Given the description of an element on the screen output the (x, y) to click on. 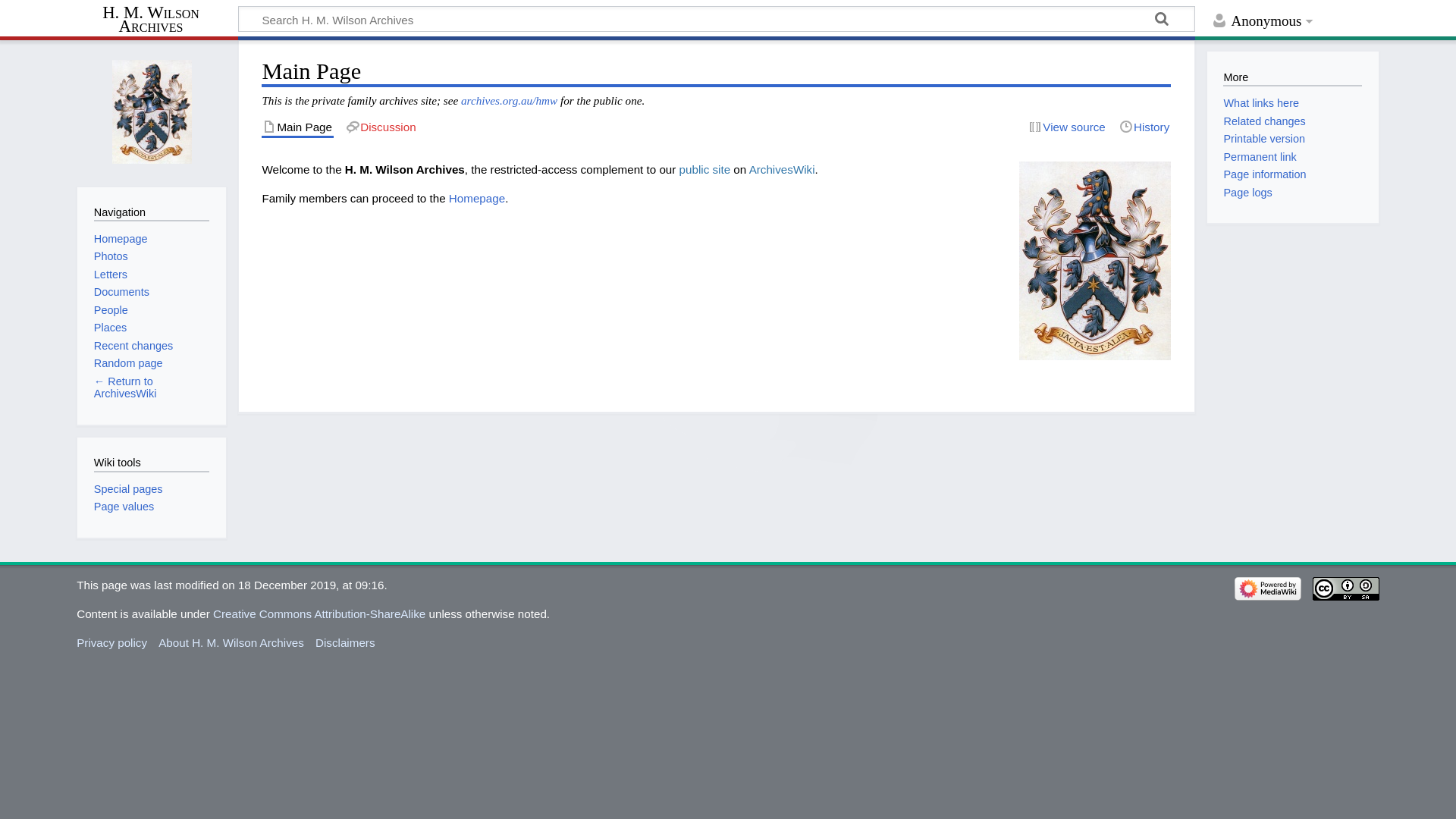
Photos Element type: text (111, 256)
Main Page Element type: text (297, 127)
Permanent link Element type: text (1259, 156)
Recent changes Element type: text (133, 345)
Homepage Element type: text (476, 197)
public site Element type: text (705, 169)
Search Element type: text (1162, 20)
Homepage Element type: text (120, 238)
Search pages for this text Element type: hover (1162, 20)
Search H. M. Wilson Archives [alt-shift-f] Element type: hover (716, 18)
Page logs Element type: text (1247, 192)
Documents Element type: text (121, 291)
People Element type: text (111, 310)
Printable version Element type: text (1264, 138)
Places Element type: text (110, 327)
Visit the main page Element type: hover (150, 111)
ArchivesWiki Element type: text (782, 169)
Related changes Element type: text (1264, 121)
Random page Element type: text (128, 363)
View source Element type: text (1066, 127)
What links here Element type: text (1261, 103)
Privacy policy Element type: text (111, 642)
Page information Element type: text (1264, 174)
Special pages Element type: text (128, 489)
History Element type: text (1144, 127)
archives.org.au/hmw Element type: text (509, 100)
Letters Element type: text (110, 274)
About H. M. Wilson Archives Element type: text (231, 642)
H. M. Wilson Archives Element type: text (157, 19)
Discussion Element type: text (381, 127)
Disclaimers Element type: text (344, 642)
Creative Commons Attribution-ShareAlike Element type: text (319, 613)
Page values Element type: text (123, 506)
